Given the description of an element on the screen output the (x, y) to click on. 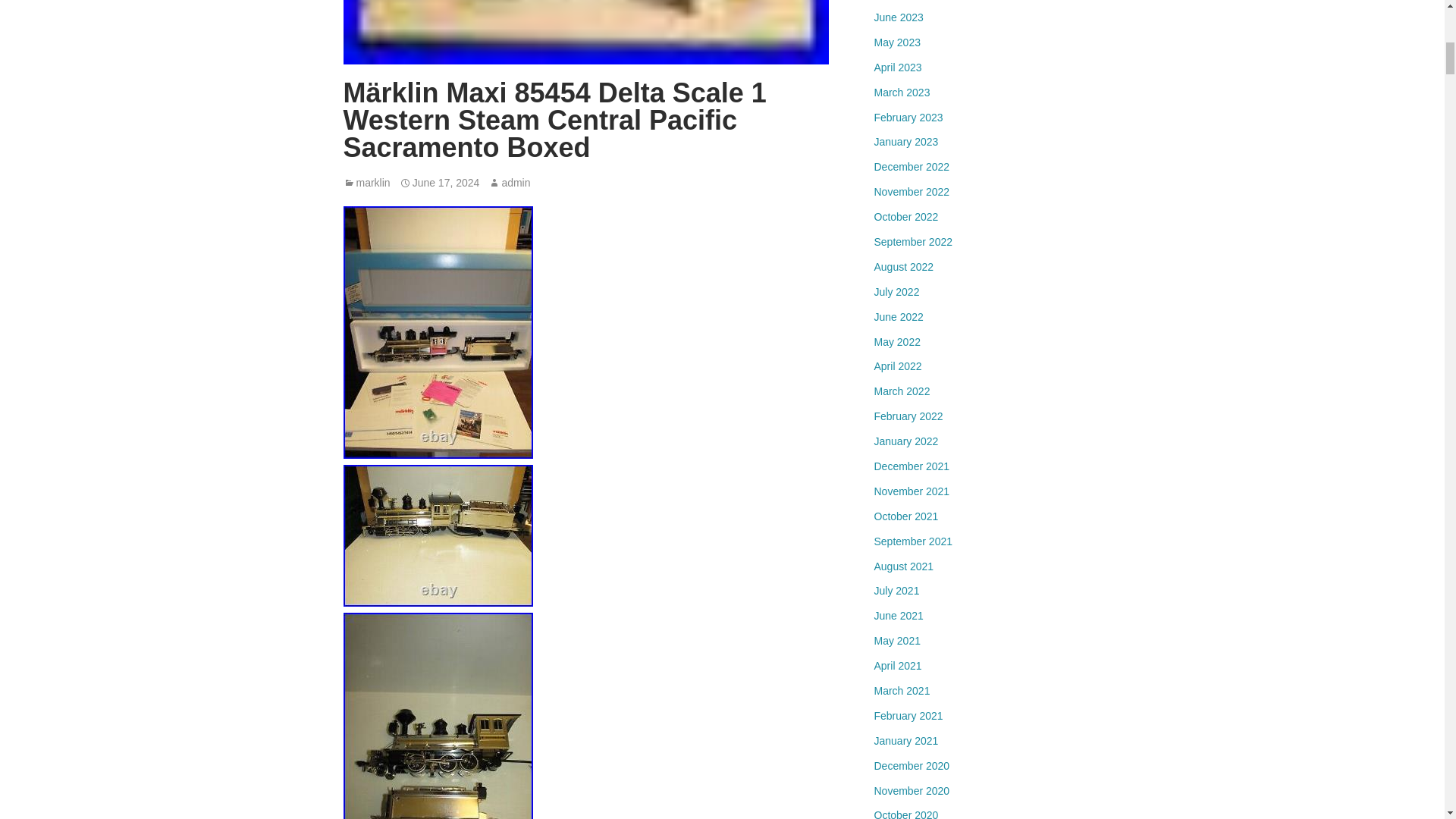
admin (514, 182)
View all posts by admin (514, 182)
6:56 am (446, 182)
June 17, 2024 (446, 182)
marklin (373, 182)
